Given the description of an element on the screen output the (x, y) to click on. 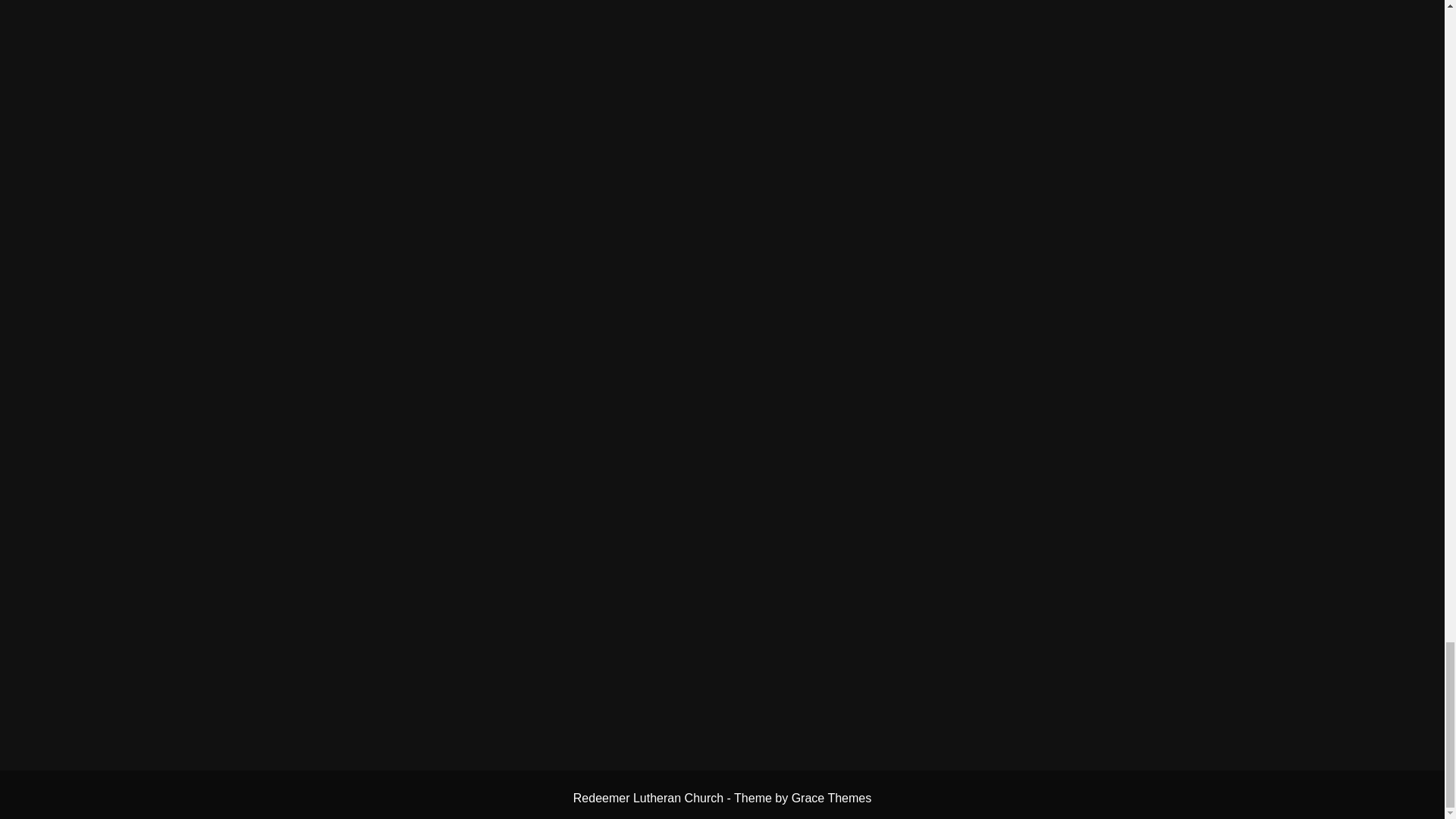
1:30 pm Bible Study (1262, 589)
Search (1385, 430)
Search (1385, 430)
Search (1385, 430)
7:30 pm Elders Meeting (1262, 614)
